Given the description of an element on the screen output the (x, y) to click on. 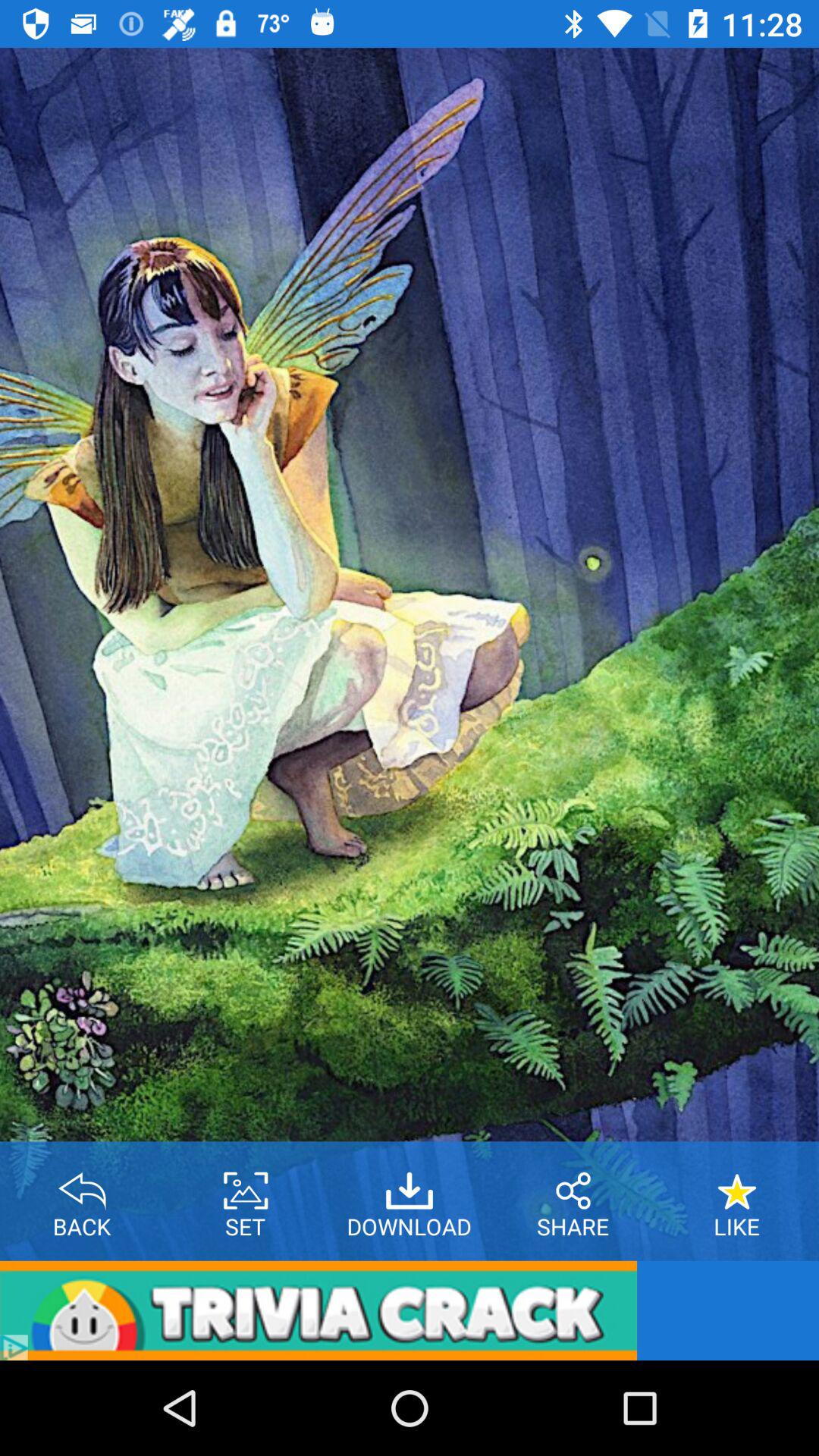
set photo as background (245, 1185)
